Given the description of an element on the screen output the (x, y) to click on. 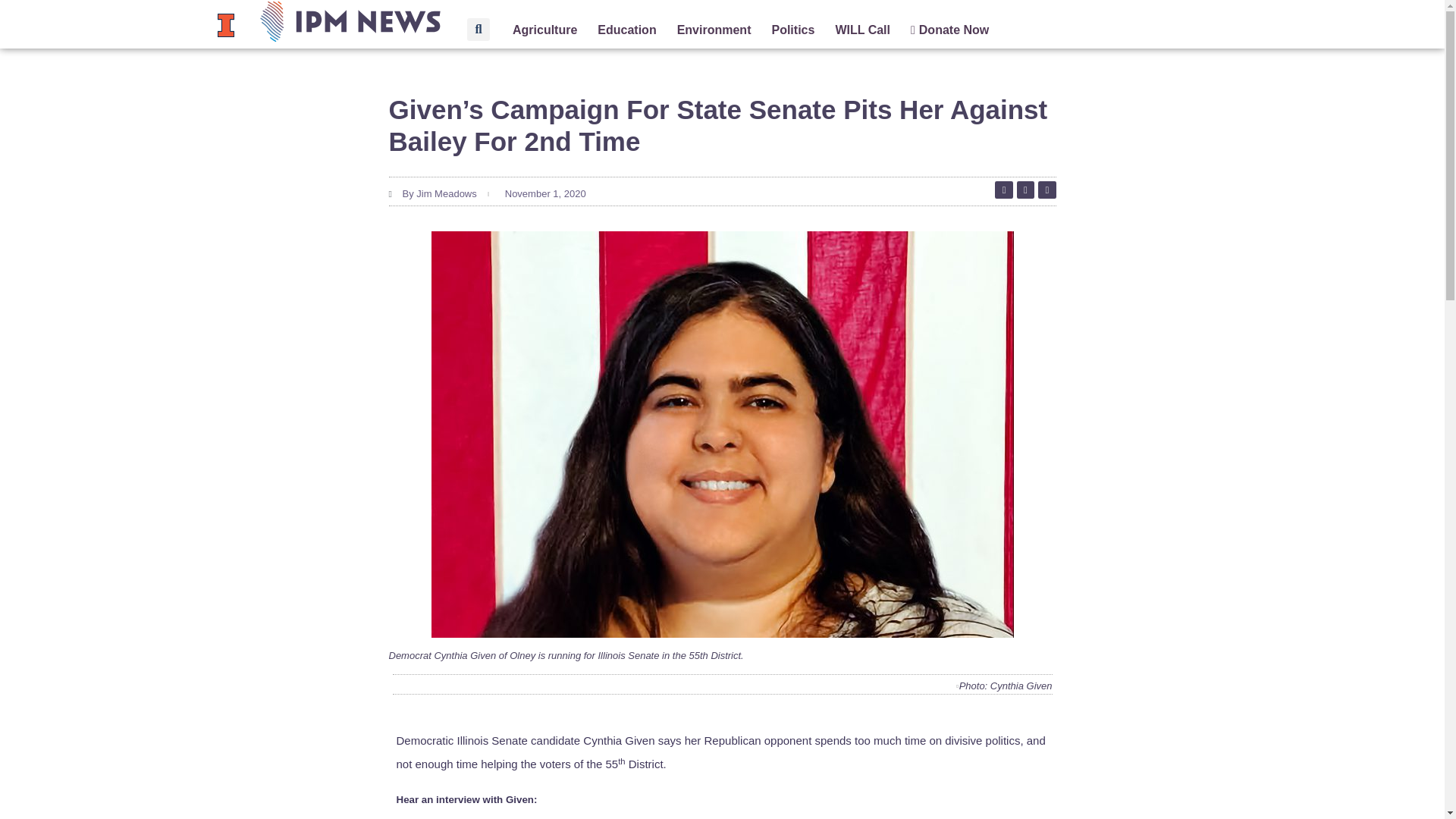
Education (626, 30)
November 1, 2020 (543, 193)
WILL Call (861, 30)
Environment (714, 30)
Donate Now (949, 30)
Agriculture (544, 30)
Politics (792, 30)
